Given the description of an element on the screen output the (x, y) to click on. 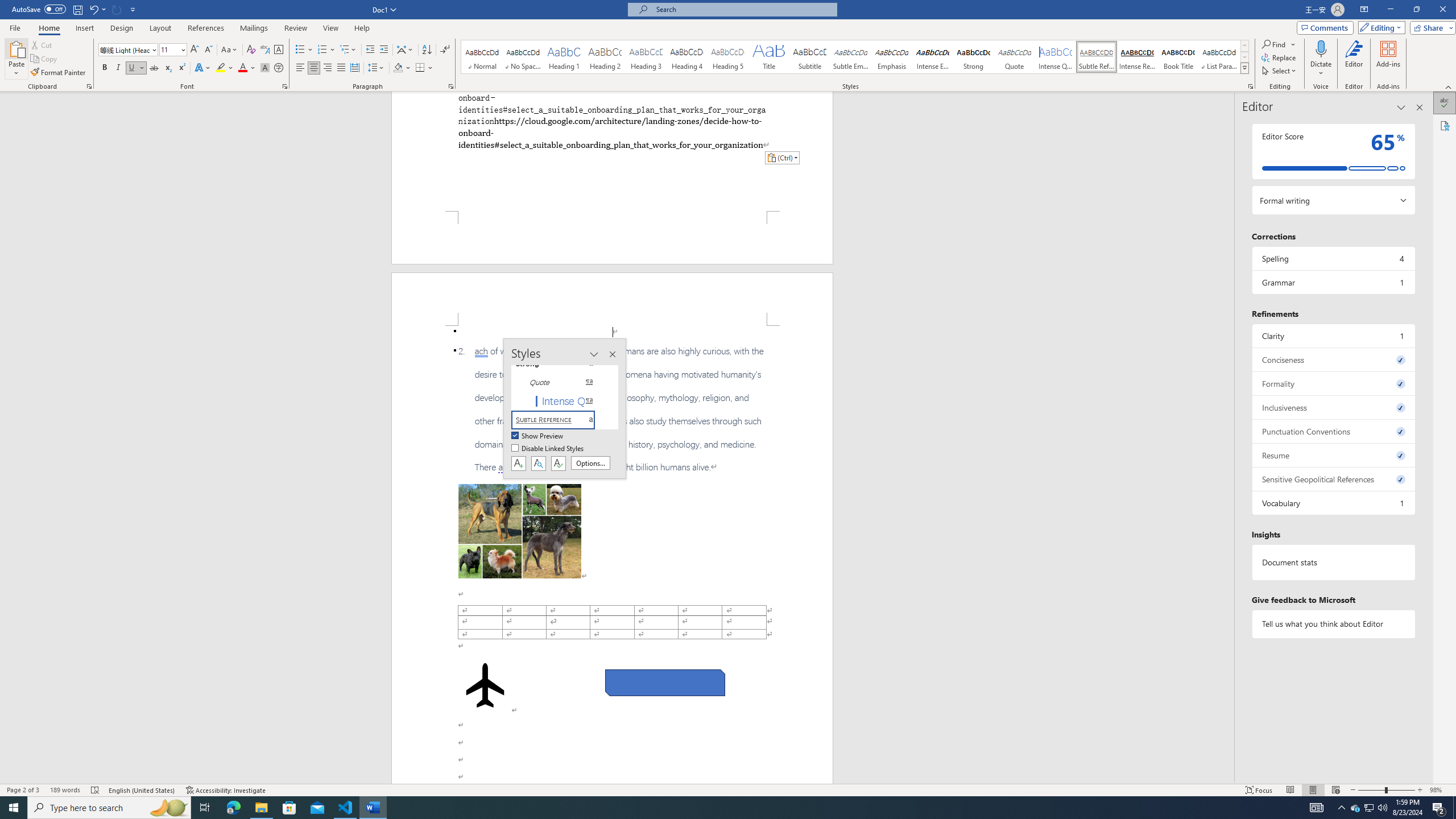
Tell us what you think about Editor (1333, 624)
Subtle Emphasis (849, 56)
Page 1 content (611, 151)
